Given the description of an element on the screen output the (x, y) to click on. 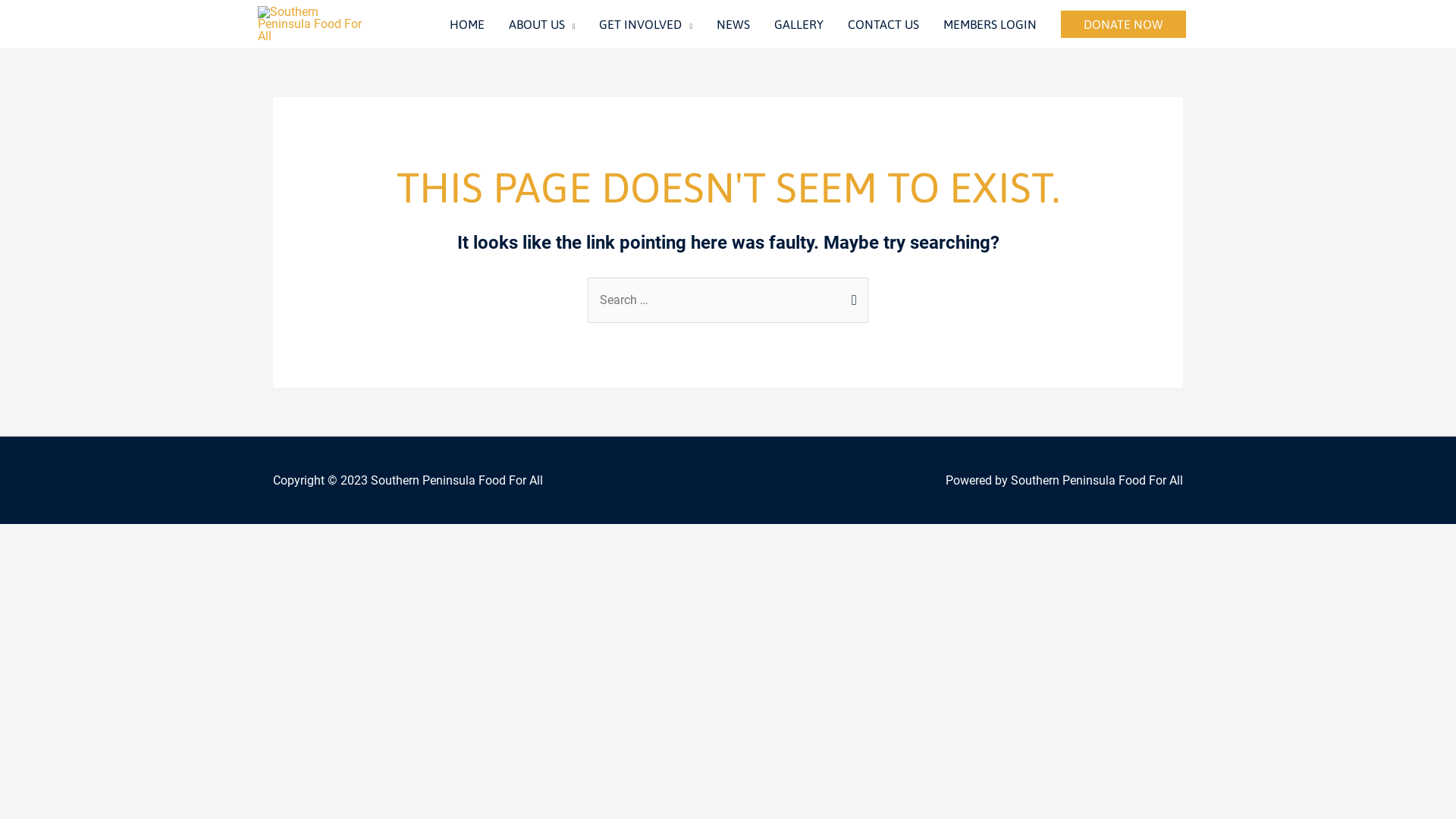
MEMBERS LOGIN Element type: text (989, 24)
HOME Element type: text (466, 24)
DONATE NOW Element type: text (1123, 23)
Search Element type: text (851, 298)
CONTACT US Element type: text (883, 24)
GALLERY Element type: text (798, 24)
NEWS Element type: text (733, 24)
GET INVOLVED Element type: text (645, 24)
ABOUT US Element type: text (541, 24)
